Given the description of an element on the screen output the (x, y) to click on. 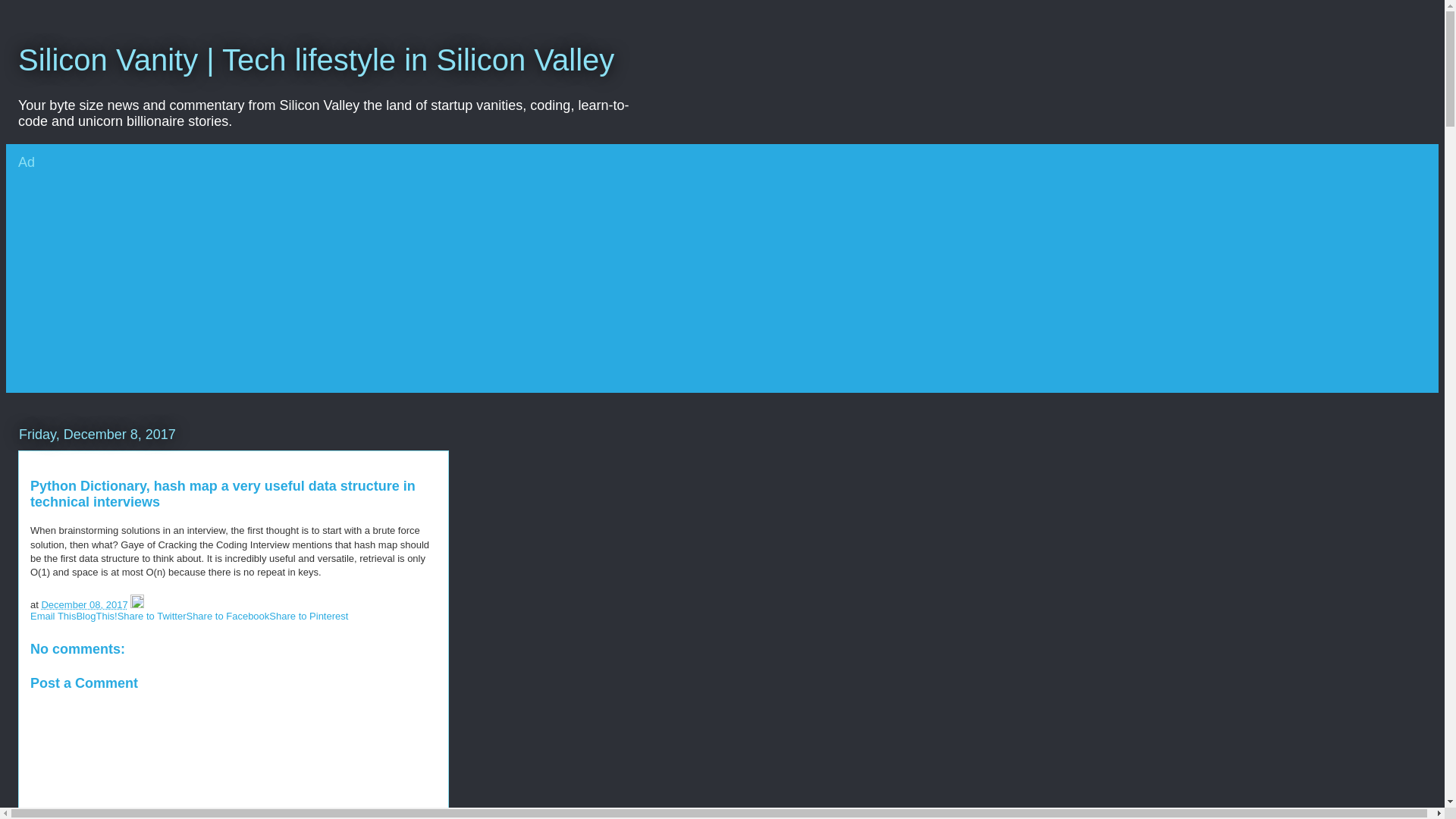
Edit Post (137, 604)
permanent link (84, 604)
December 08, 2017 (84, 604)
BlogThis! (95, 615)
Share to Facebook (227, 615)
Share to Twitter (151, 615)
Email This (52, 615)
Email This (52, 615)
Share to Pinterest (308, 615)
BlogThis! (95, 615)
Share to Pinterest (308, 615)
Share to Twitter (151, 615)
Share to Facebook (227, 615)
Advertisement (331, 286)
